Given the description of an element on the screen output the (x, y) to click on. 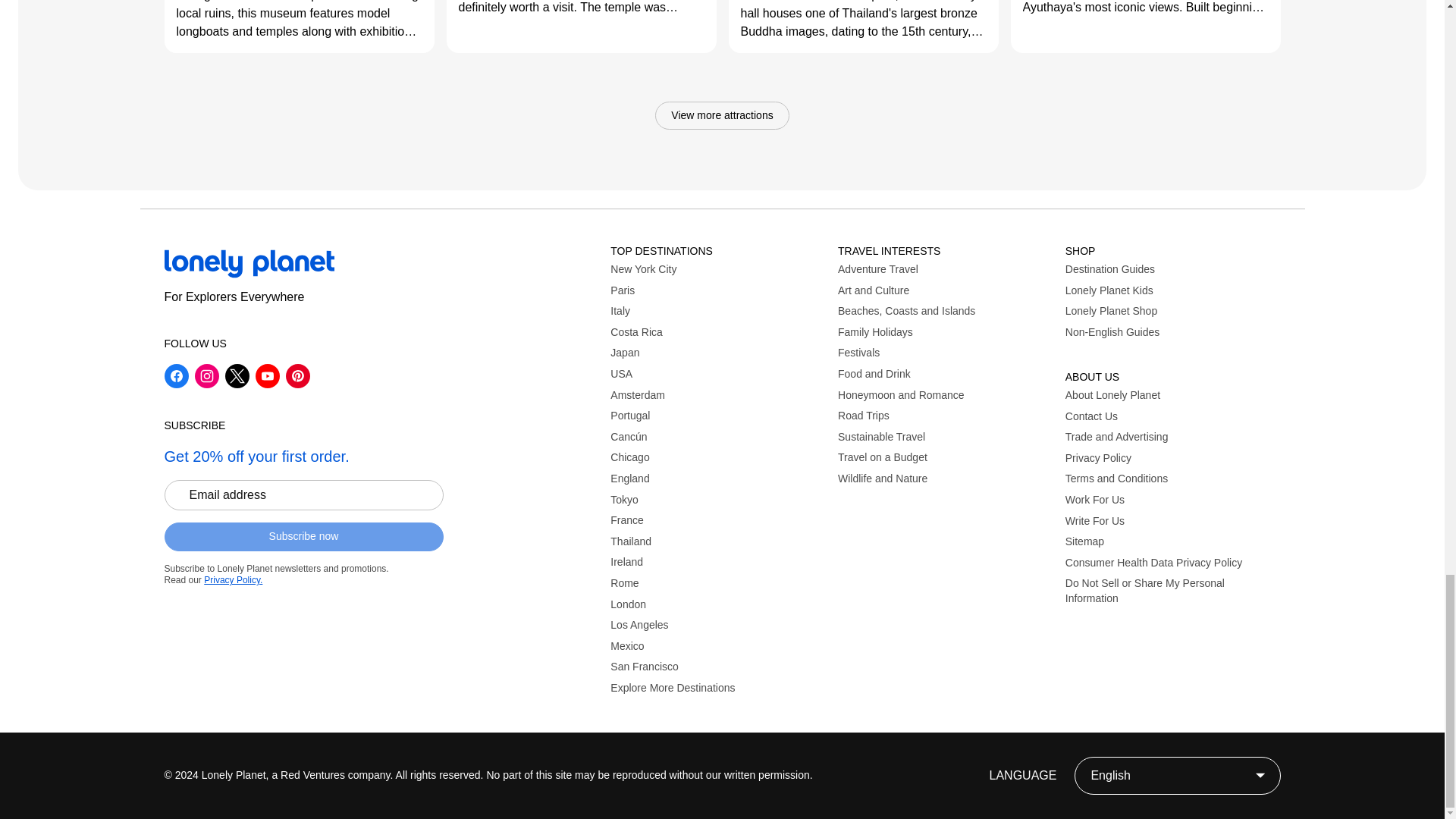
View more attractions (722, 115)
